Given the description of an element on the screen output the (x, y) to click on. 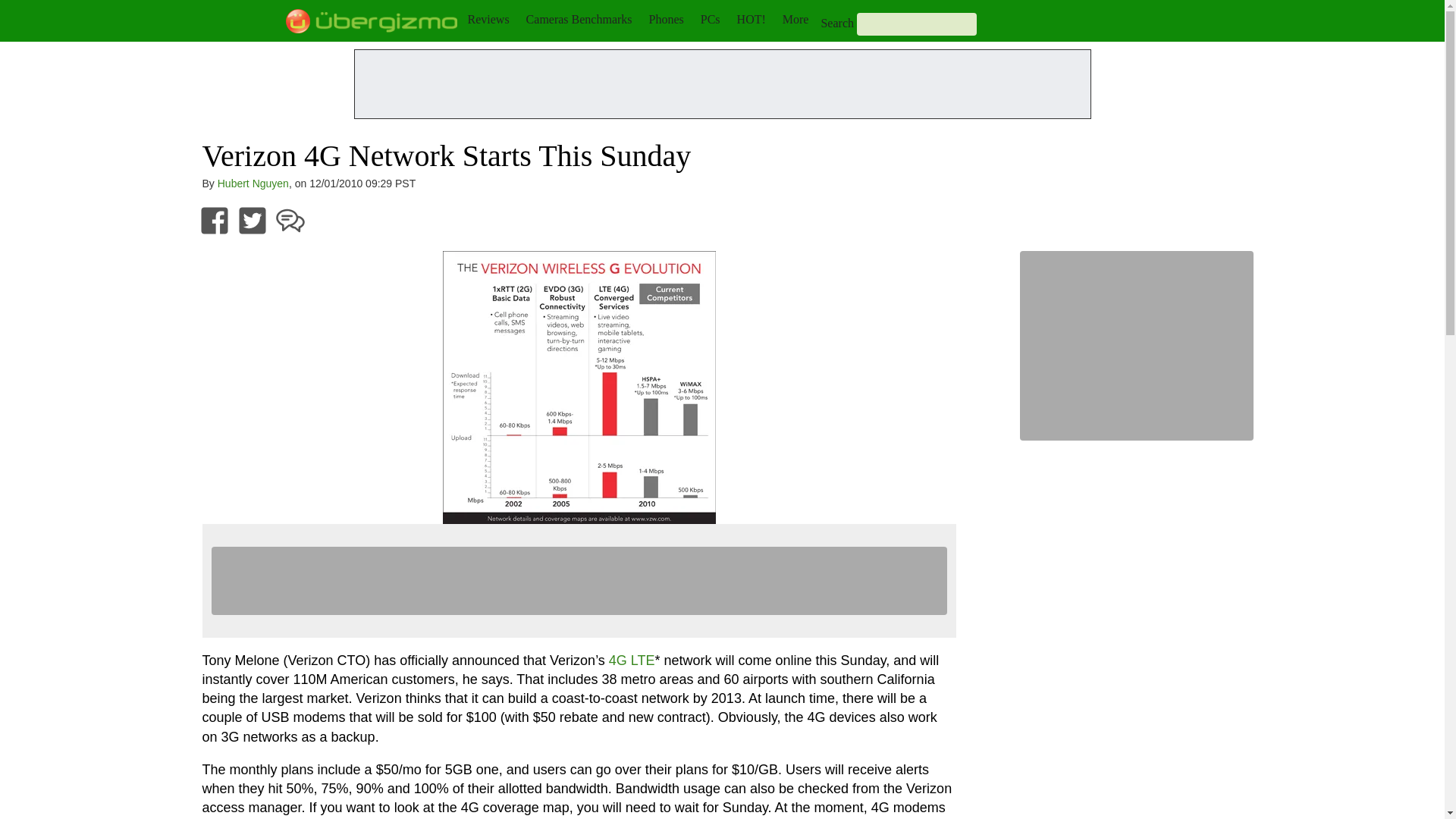
Verizon 4G Network Starts This Sunday (579, 387)
PCs (710, 19)
Cameras Benchmarks (578, 19)
Phones (666, 19)
Reviews (487, 19)
